Given the description of an element on the screen output the (x, y) to click on. 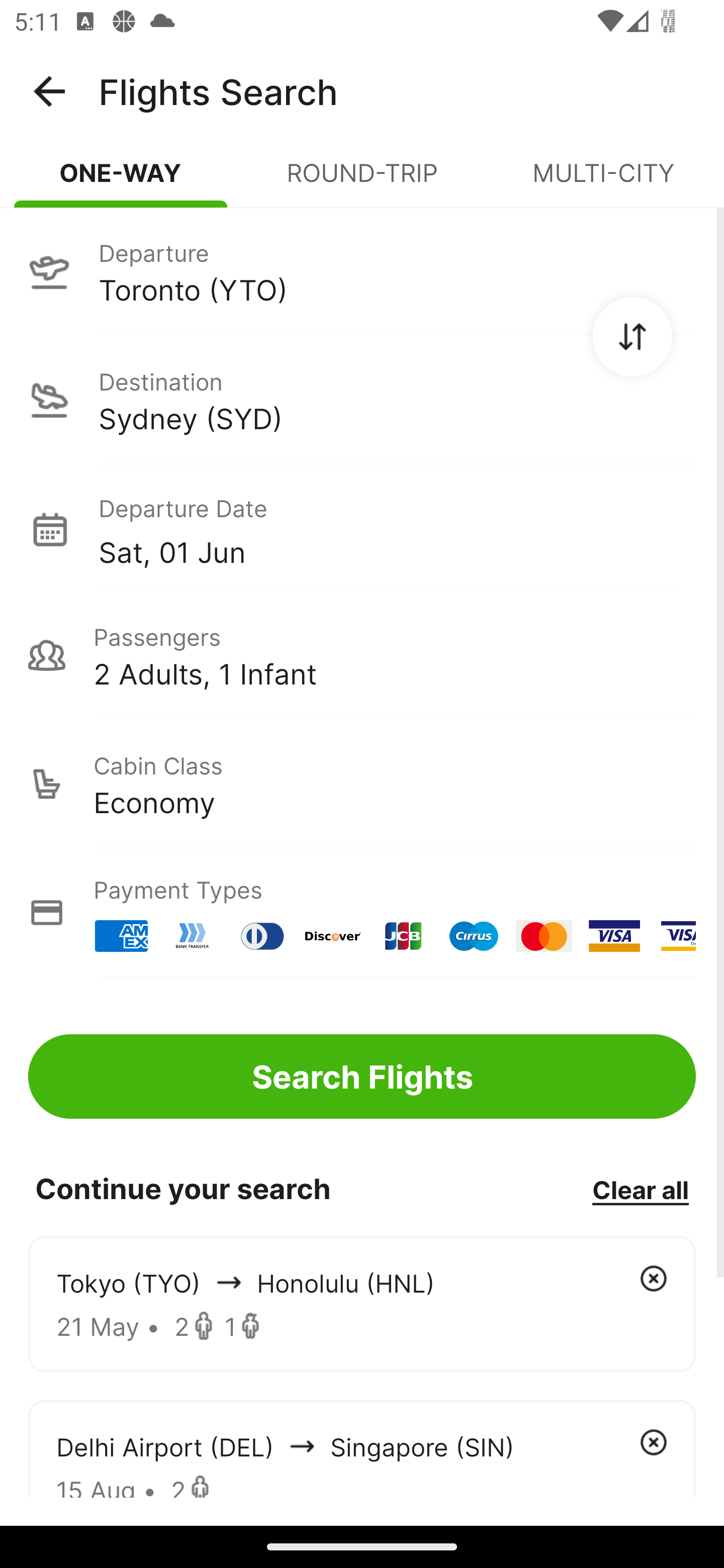
ONE-WAY (120, 180)
ROUND-TRIP (361, 180)
MULTI-CITY (603, 180)
Departure Toronto (YTO) (362, 270)
Destination Sydney (SYD) (362, 400)
Departure Date Sat, 01 Jun (396, 528)
Passengers 2 Adults, 1 Infant (362, 655)
Cabin Class Economy (362, 783)
Payment Types (362, 912)
Search Flights (361, 1075)
Clear all (640, 1189)
